Given the description of an element on the screen output the (x, y) to click on. 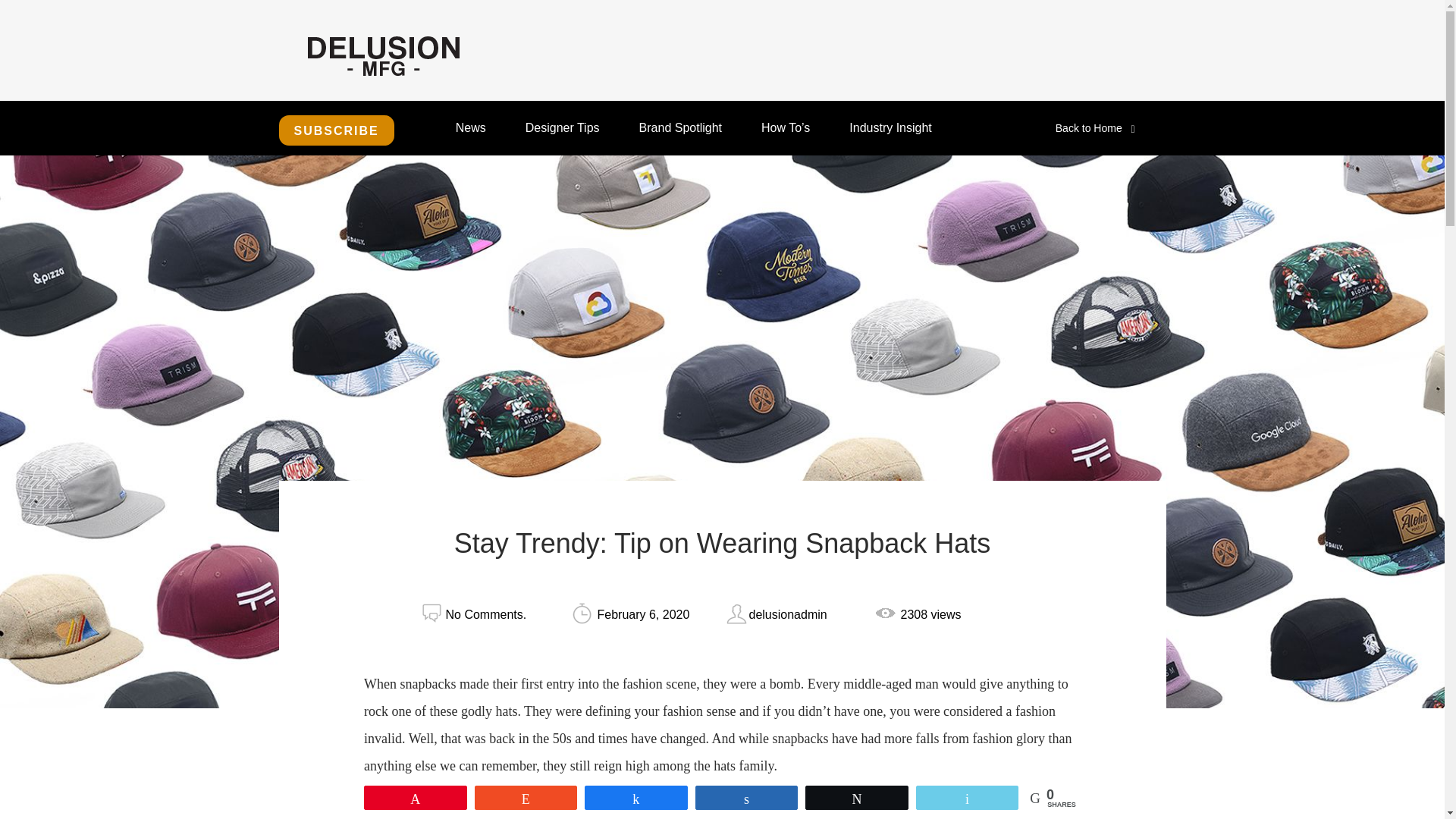
Back to Home   (1094, 127)
Industry Insight (890, 127)
SUBSCRIBE (336, 130)
News (470, 127)
Brand Spotlight (680, 127)
Designer Tips (562, 127)
Designer Tips (562, 127)
Brand Spotlight (680, 127)
News (470, 127)
How To's (785, 127)
Industry Insight (890, 127)
